Given the description of an element on the screen output the (x, y) to click on. 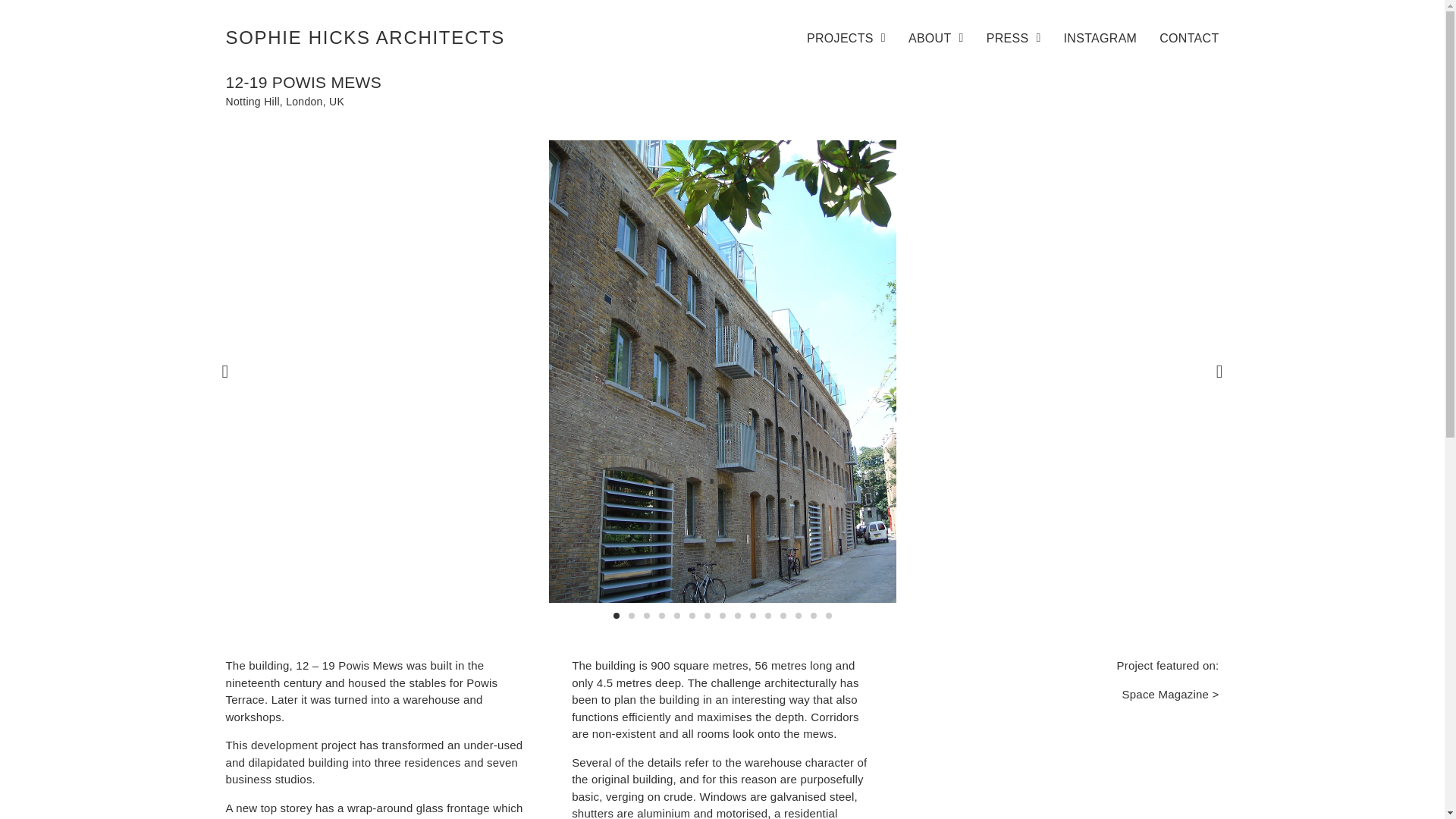
INSTAGRAM (1100, 38)
SOPHIE HICKS ARCHITECTS (365, 37)
PRESS (1014, 38)
CONTACT (1188, 38)
PROJECTS (845, 38)
ABOUT (935, 38)
